Given the description of an element on the screen output the (x, y) to click on. 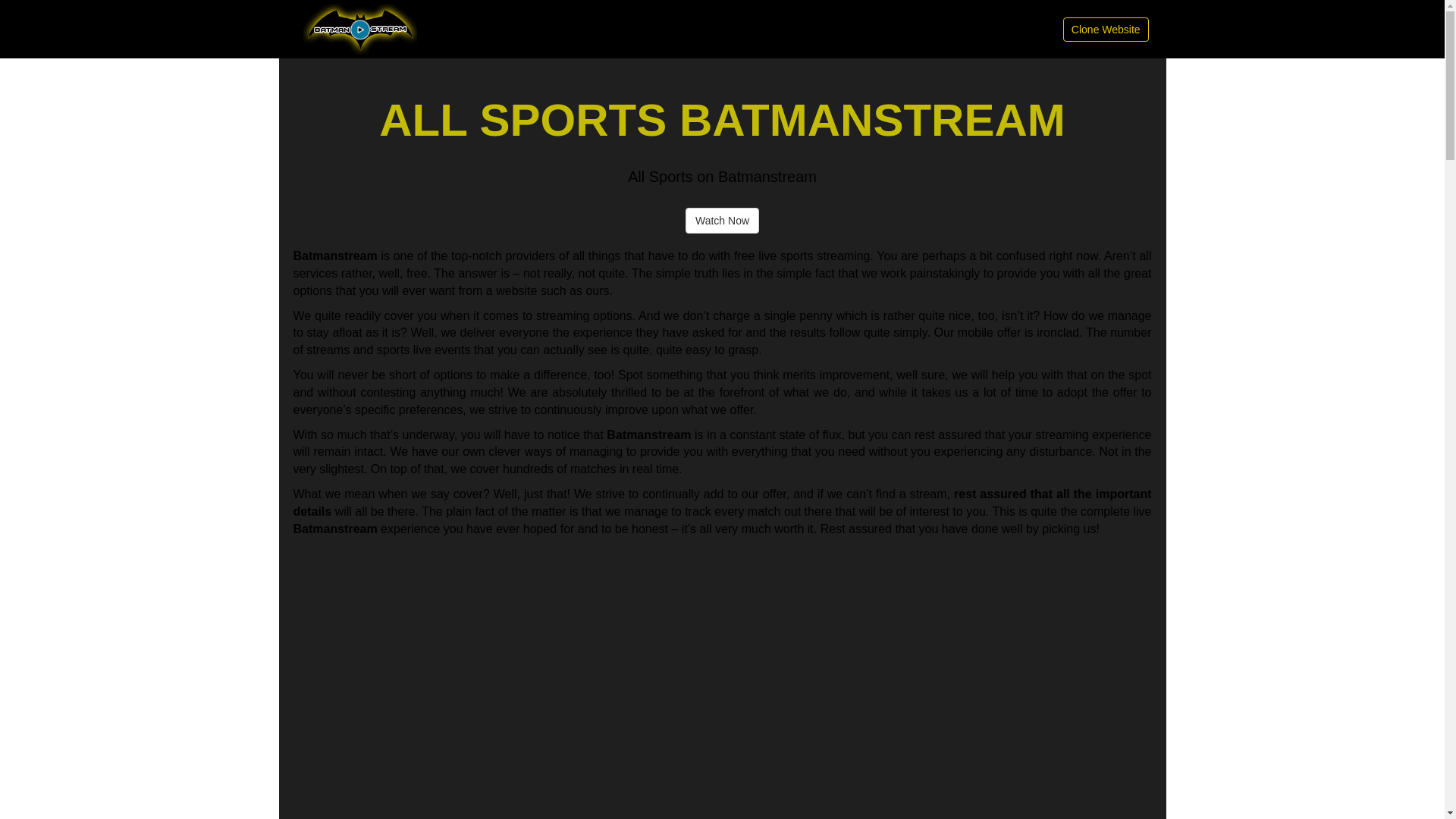
Am. Football Element type: text (705, 29)
Football Element type: text (500, 29)
Rugby Element type: text (912, 29)
Hockey Element type: text (631, 29)
Tennis Element type: text (969, 29)
Watch Now Element type: text (722, 220)
Clone Website Element type: text (1105, 28)
Racing Element type: text (854, 29)
Basketball Element type: text (786, 29)
Baseball Element type: text (567, 29)
Others Element type: text (1027, 29)
All Element type: text (449, 29)
